Given the description of an element on the screen output the (x, y) to click on. 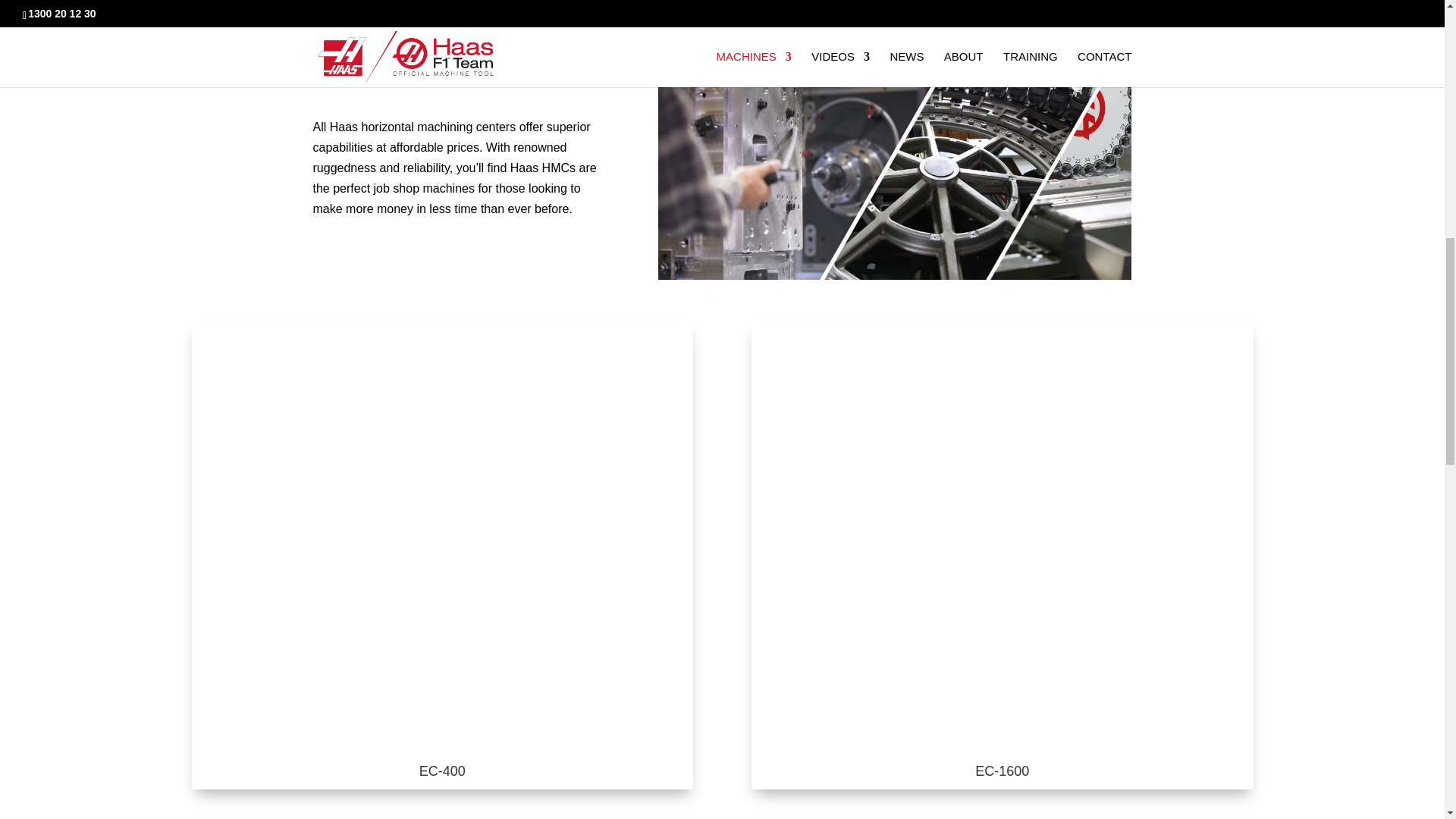
EC-1600 (1002, 770)
EC-400 (442, 770)
